Given the description of an element on the screen output the (x, y) to click on. 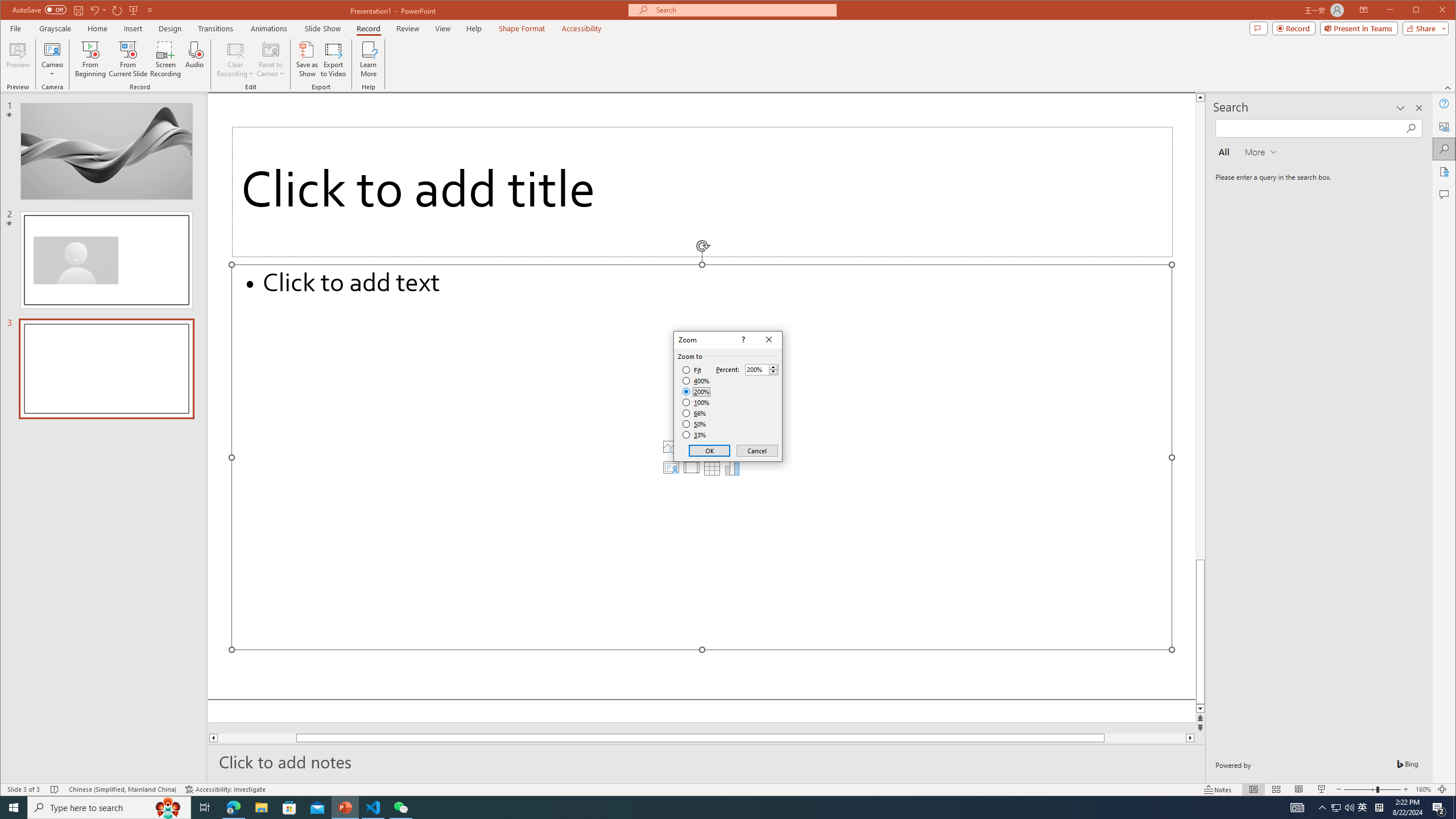
OK (709, 450)
